Given the description of an element on the screen output the (x, y) to click on. 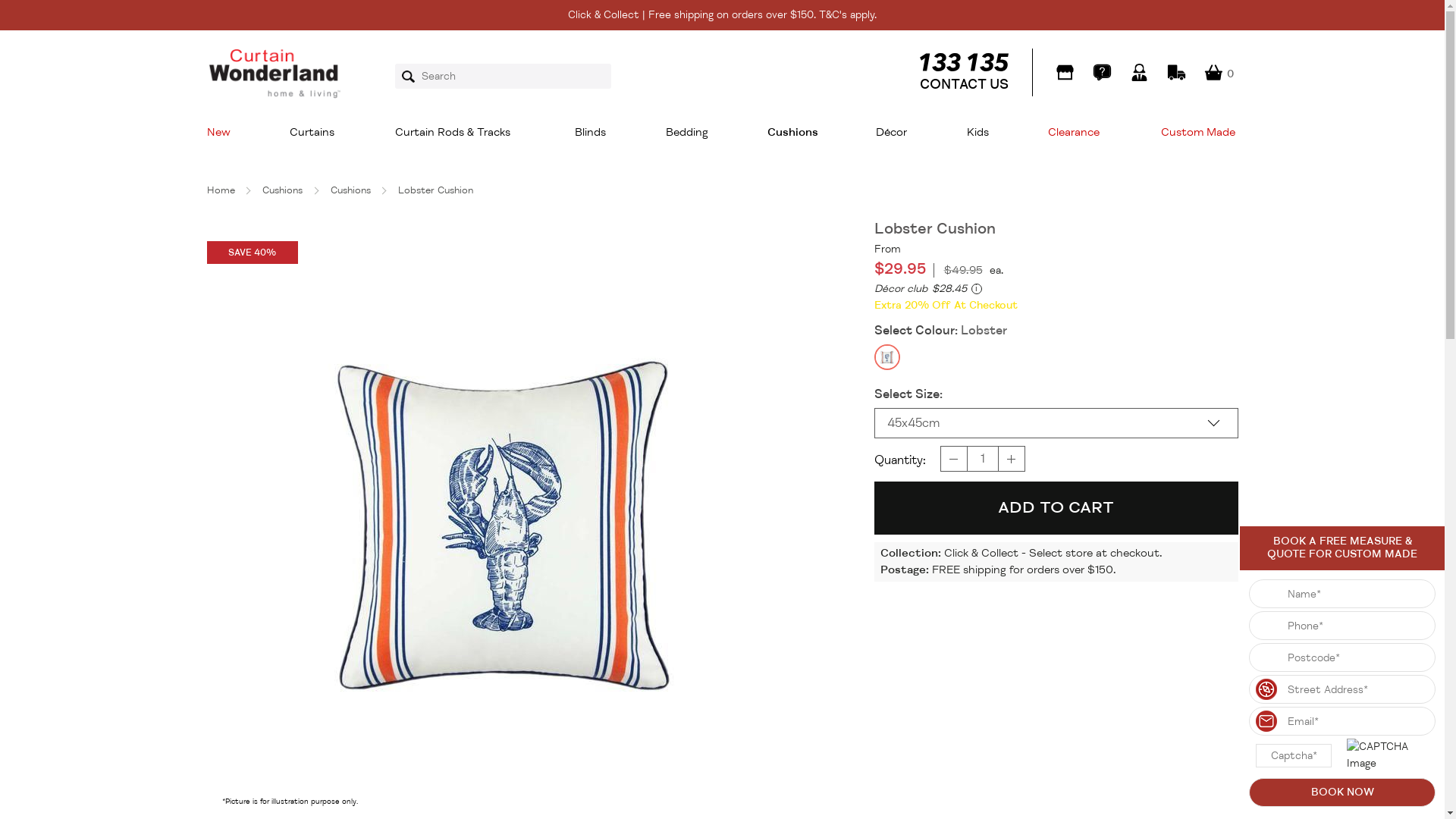
Curtains Element type: text (312, 132)
Home Element type: text (220, 192)
0 Element type: text (1213, 71)
Cushions Element type: text (350, 192)
Bedding Element type: text (686, 132)
Clearance Element type: text (1074, 132)
Search Element type: text (412, 76)
Kids Element type: text (978, 132)
Custom Made Element type: text (1194, 132)
Join now to get further 5% off and gift voucher! Element type: text (721, 28)
Curtain Rods & Tracks Element type: text (456, 132)
Cushions Element type: text (282, 192)
ADD TO CART Element type: text (1055, 507)
New Element type: text (223, 132)
CONTACT US Element type: text (963, 72)
Blinds Element type: text (590, 132)
BOOK NOW Element type: text (1341, 792)
Cushions Element type: text (791, 132)
Lobster Cushion Element type: text (435, 192)
track order Element type: hover (1175, 71)
Store Locations Element type: hover (1064, 71)
